Given the description of an element on the screen output the (x, y) to click on. 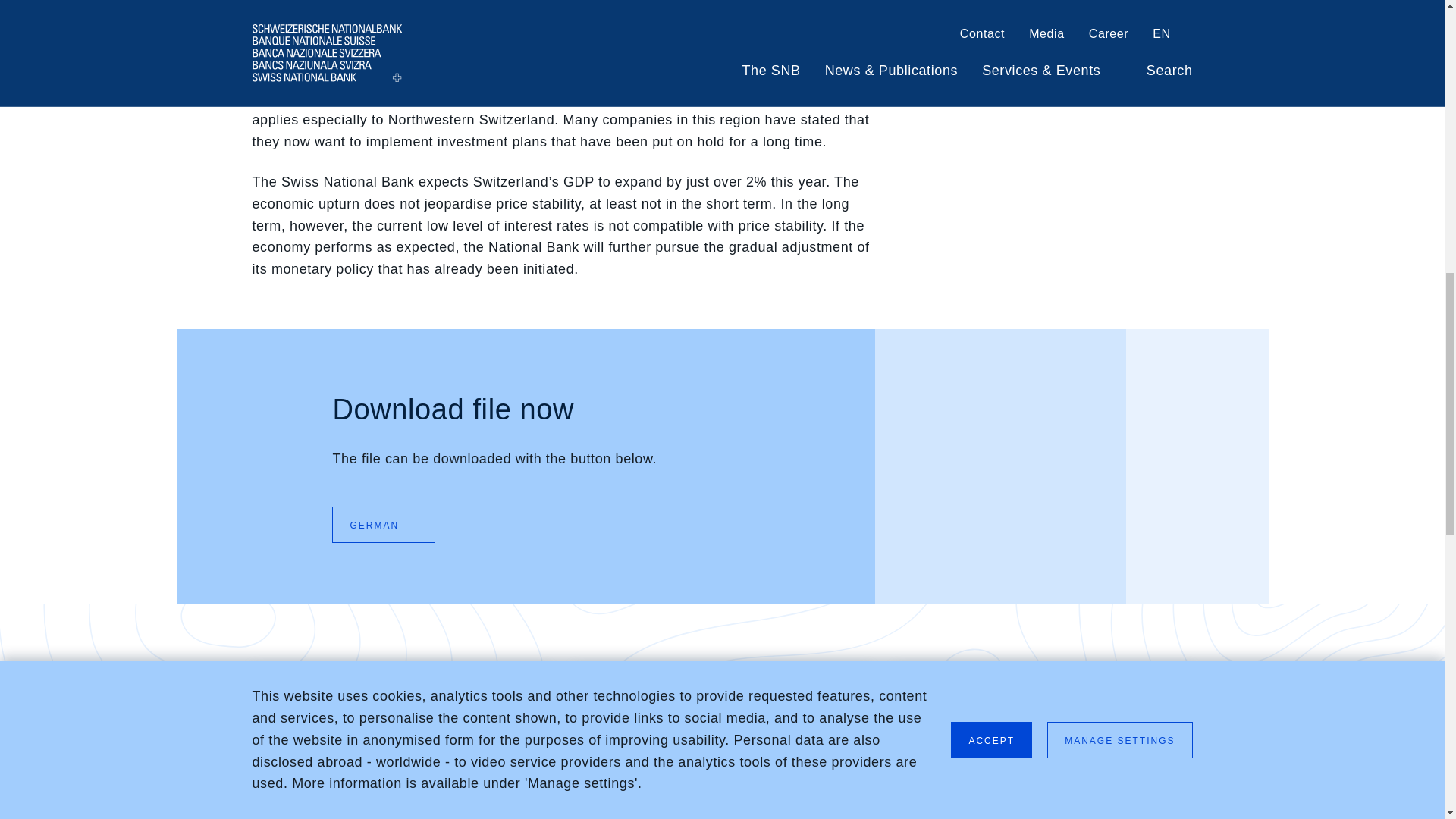
GERMAN (413, 523)
